Given the description of an element on the screen output the (x, y) to click on. 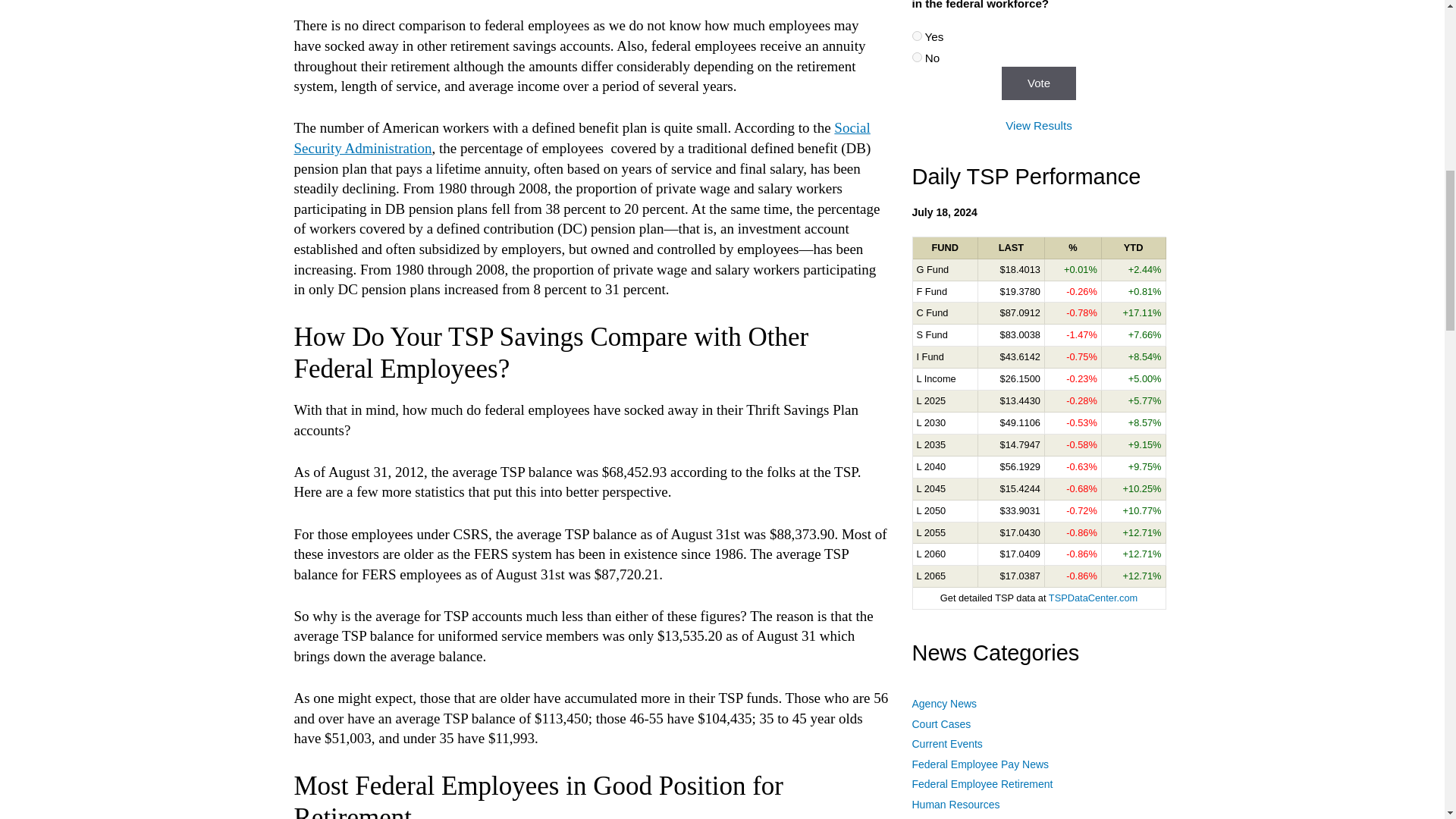
Disappearing defined benefit plan (582, 137)
Social Security Administration (582, 137)
2316 (916, 35)
2317 (916, 57)
   Vote    (1038, 83)
